Given the description of an element on the screen output the (x, y) to click on. 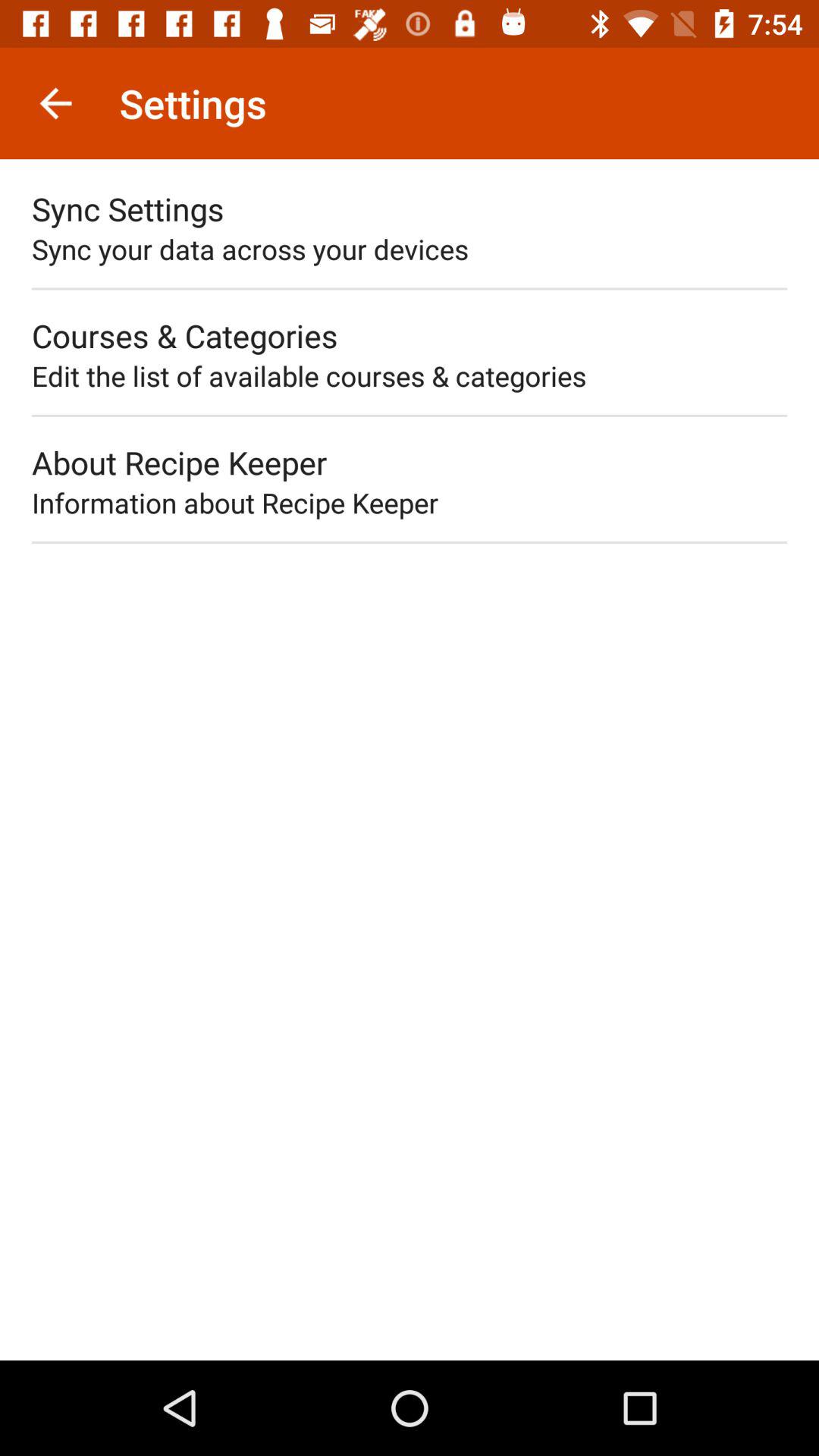
choose icon next to settings item (55, 103)
